Given the description of an element on the screen output the (x, y) to click on. 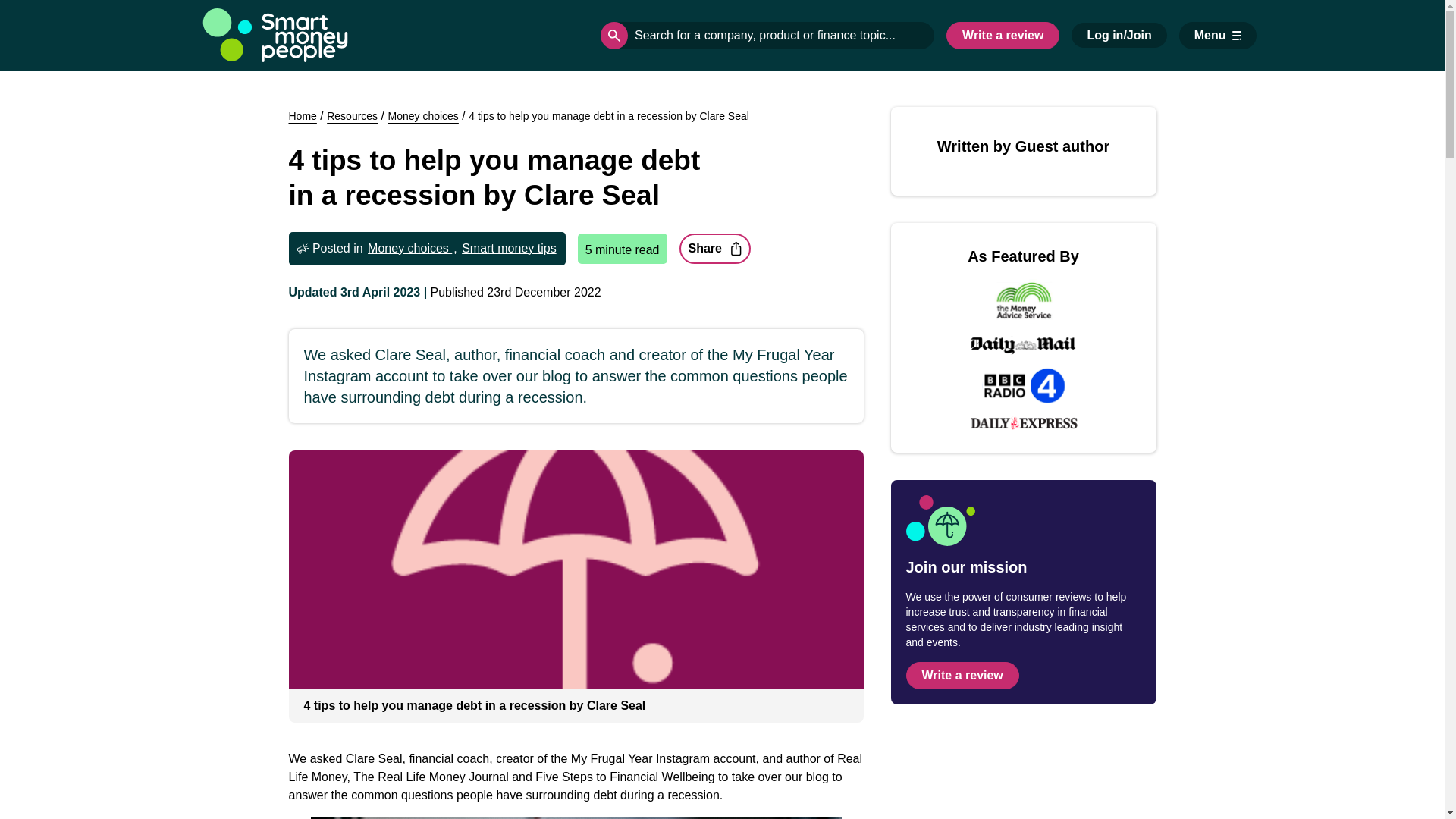
Search (613, 34)
Menu (1217, 34)
Write a review (1002, 34)
